Given the description of an element on the screen output the (x, y) to click on. 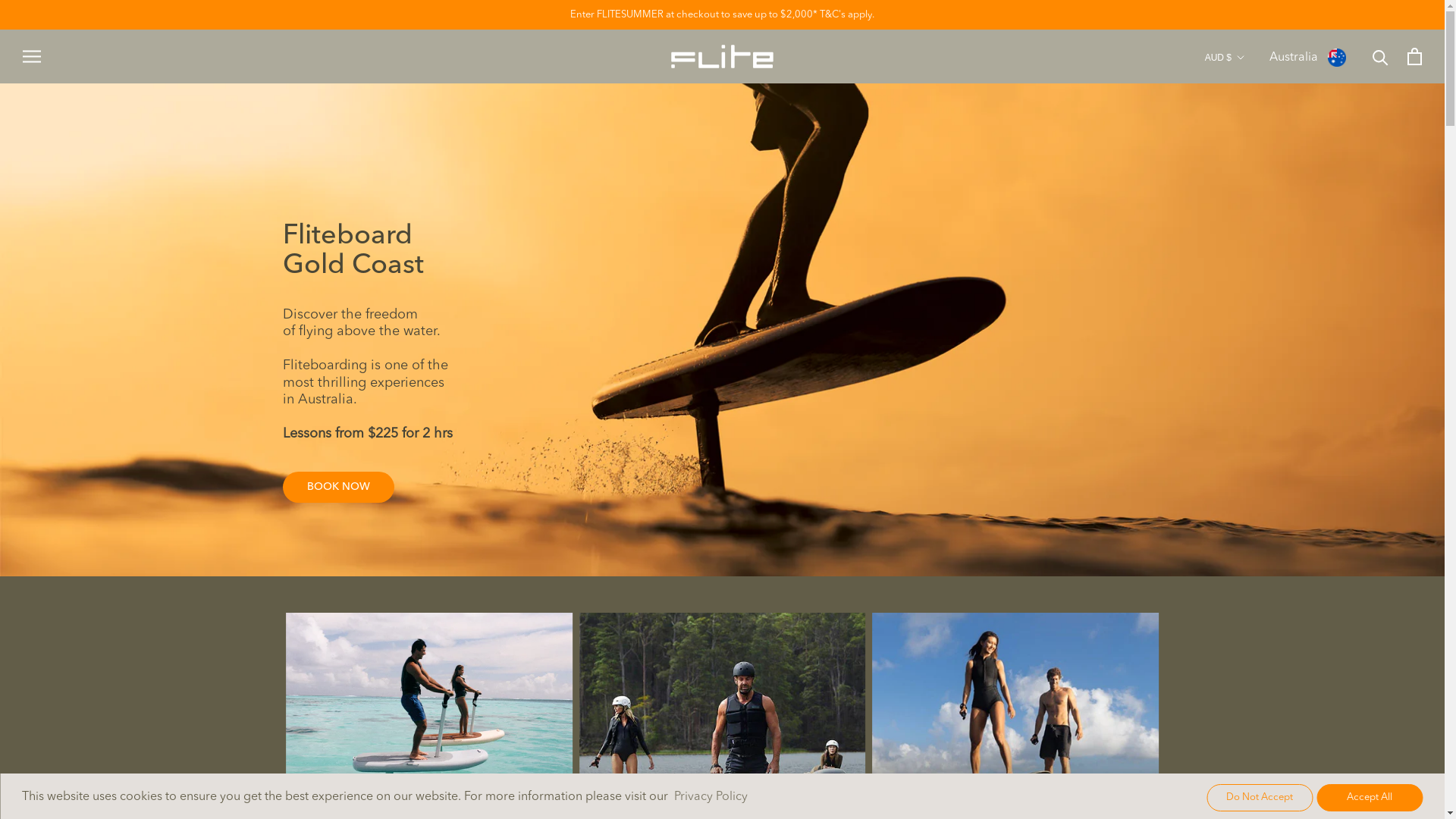
Accept All Element type: text (1369, 797)
Privacy Policy Element type: text (710, 796)
NZ Element type: text (1260, 117)
Australia Element type: text (1307, 55)
Do Not Accept Element type: text (1259, 797)
AU Element type: text (1260, 92)
  BOOK NOW   Element type: text (337, 486)
AUD $ Element type: text (1224, 57)
